Given the description of an element on the screen output the (x, y) to click on. 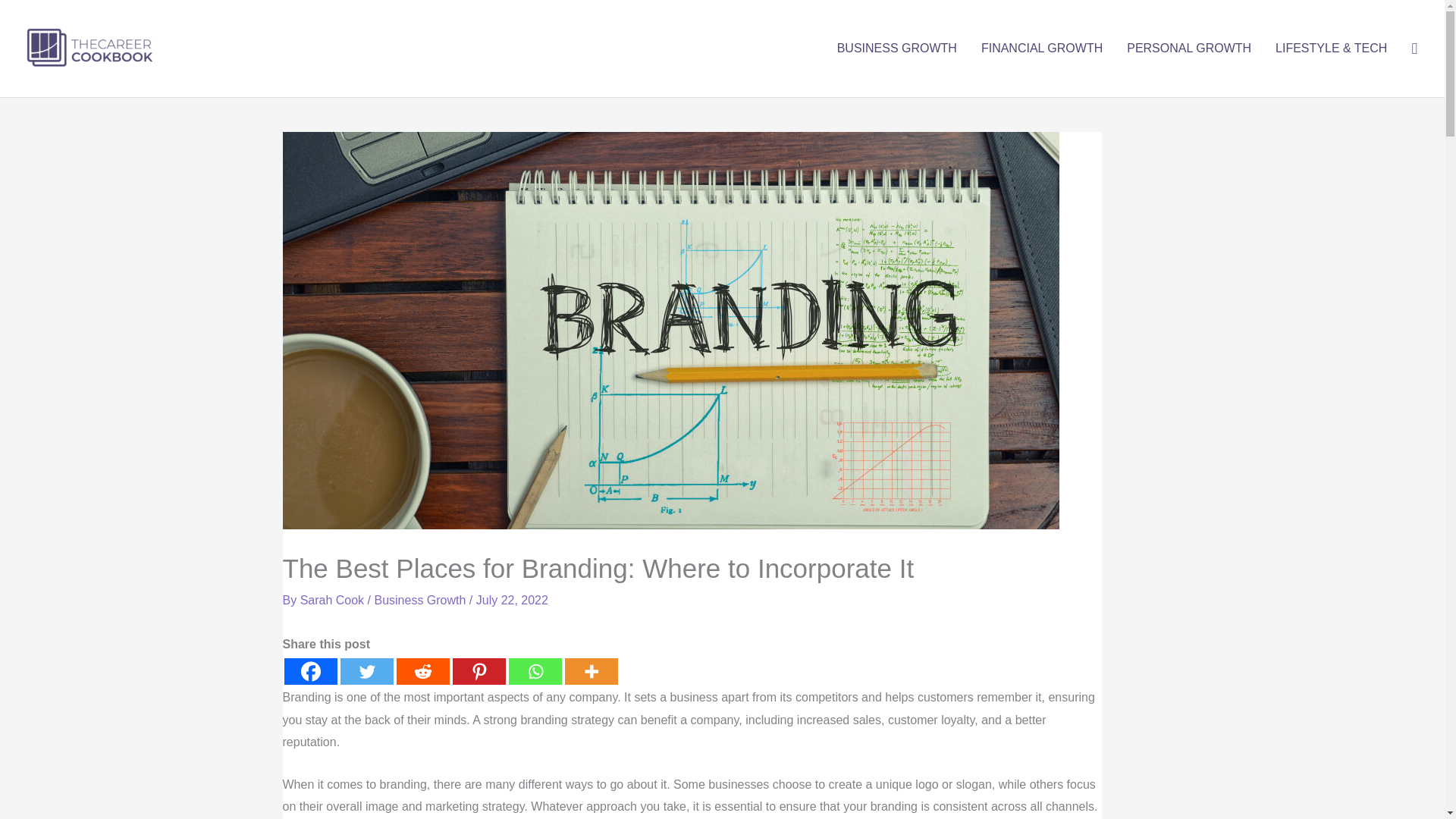
View all posts by Sarah Cook (333, 599)
Whatsapp (534, 671)
Reddit (422, 671)
Pinterest (478, 671)
More (590, 671)
Business Growth (419, 599)
FINANCIAL GROWTH (1042, 48)
Twitter (366, 671)
Facebook (309, 671)
Sarah Cook (333, 599)
